Given the description of an element on the screen output the (x, y) to click on. 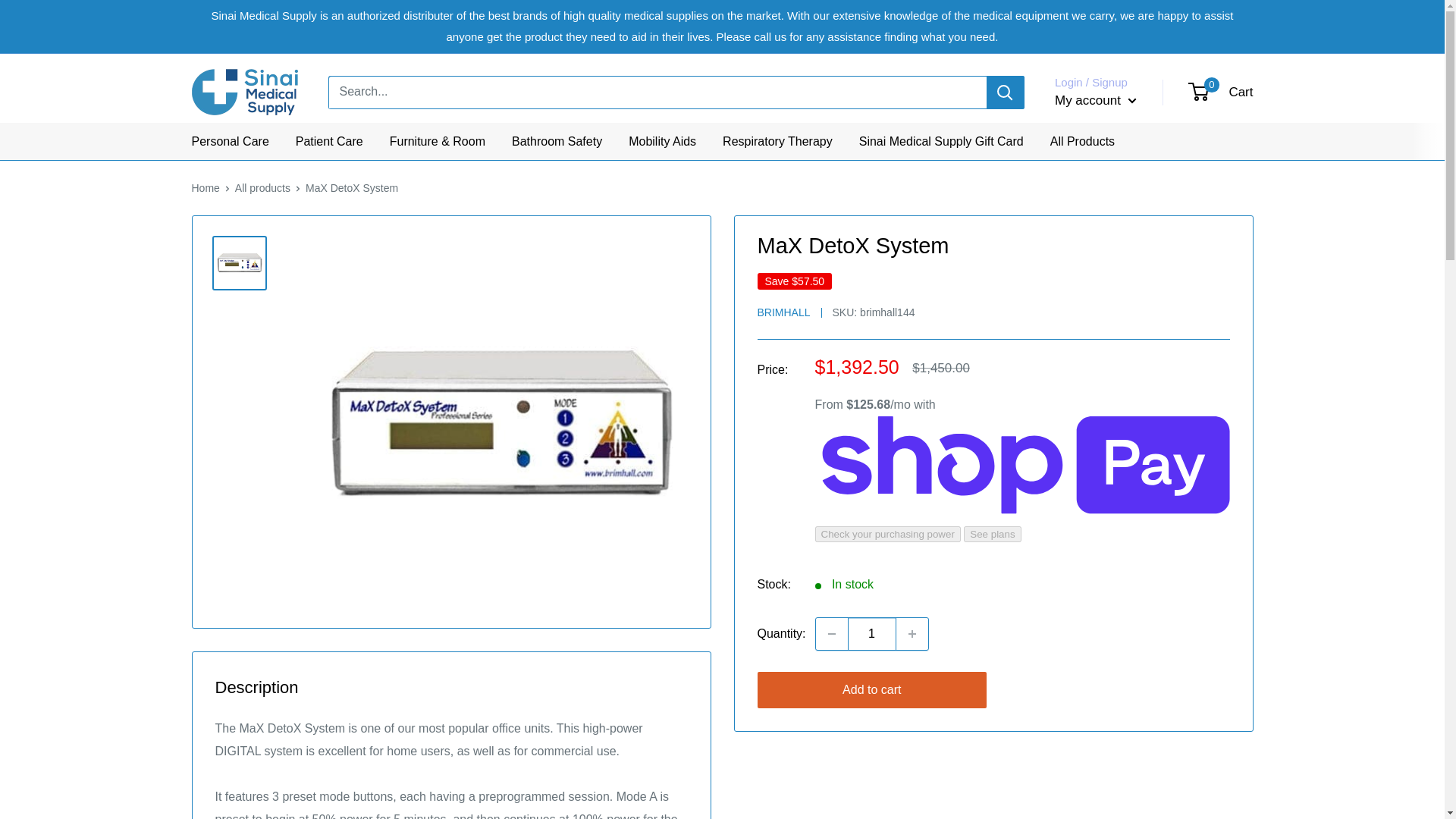
Sinai Medical Supply (243, 91)
My account (1095, 100)
All Products (1221, 92)
Respiratory Therapy (1082, 141)
Personal Care (777, 141)
Decrease quantity by 1 (228, 141)
Home (831, 634)
Mobility Aids (204, 187)
Increase quantity by 1 (661, 141)
All products (912, 634)
Patient Care (261, 187)
Sinai Medical Supply Gift Card (328, 141)
1 (941, 141)
Bathroom Safety (871, 634)
